Given the description of an element on the screen output the (x, y) to click on. 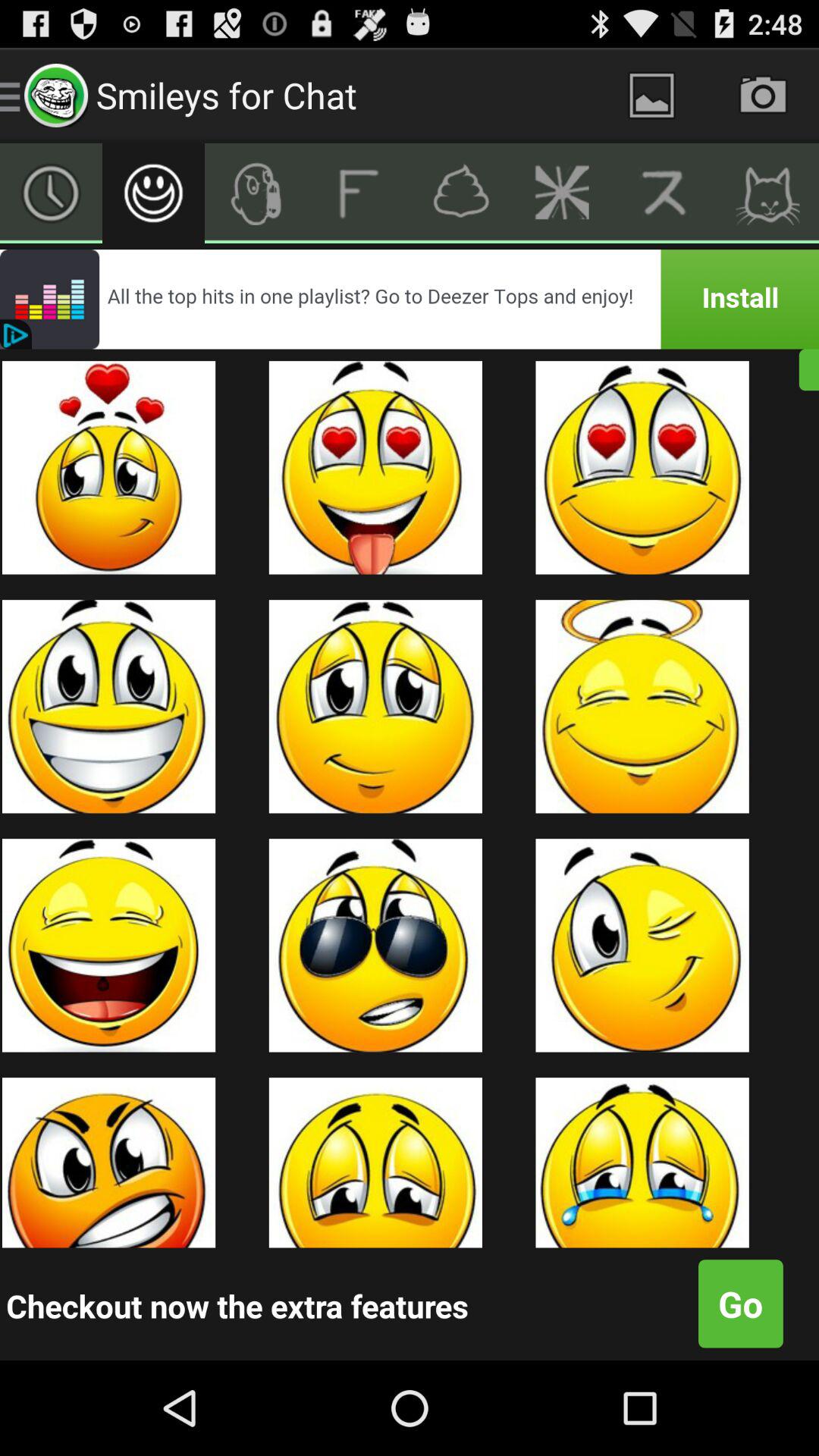
take a picture (763, 95)
